Given the description of an element on the screen output the (x, y) to click on. 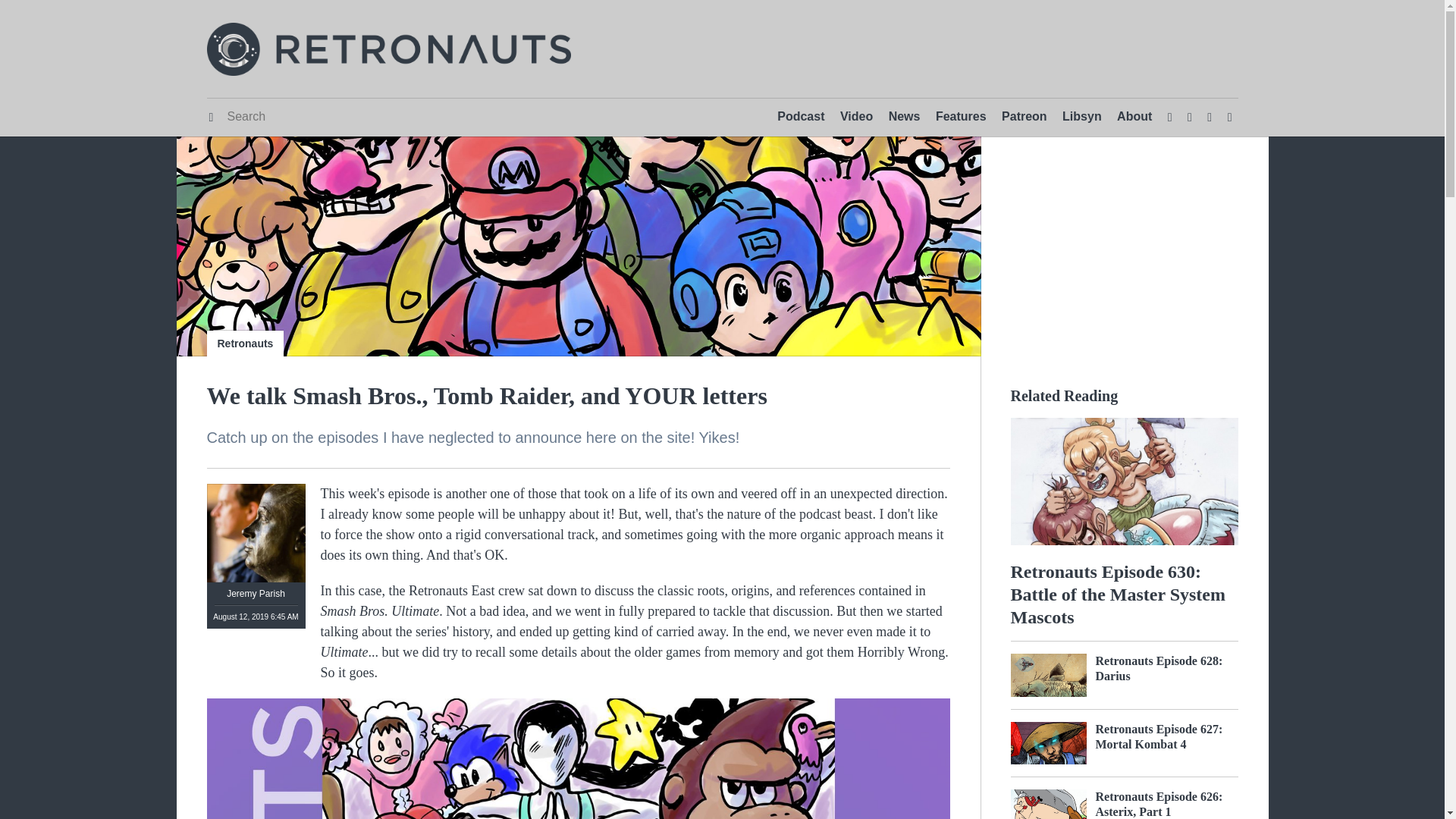
Podcast (800, 116)
Features (961, 116)
We talk Smash Bros., Tomb Raider, and YOUR letters -  (577, 758)
Patreon (1023, 116)
Libsyn (1082, 116)
Retronauts (244, 343)
About (1133, 116)
Video (856, 116)
News (904, 116)
